Given the description of an element on the screen output the (x, y) to click on. 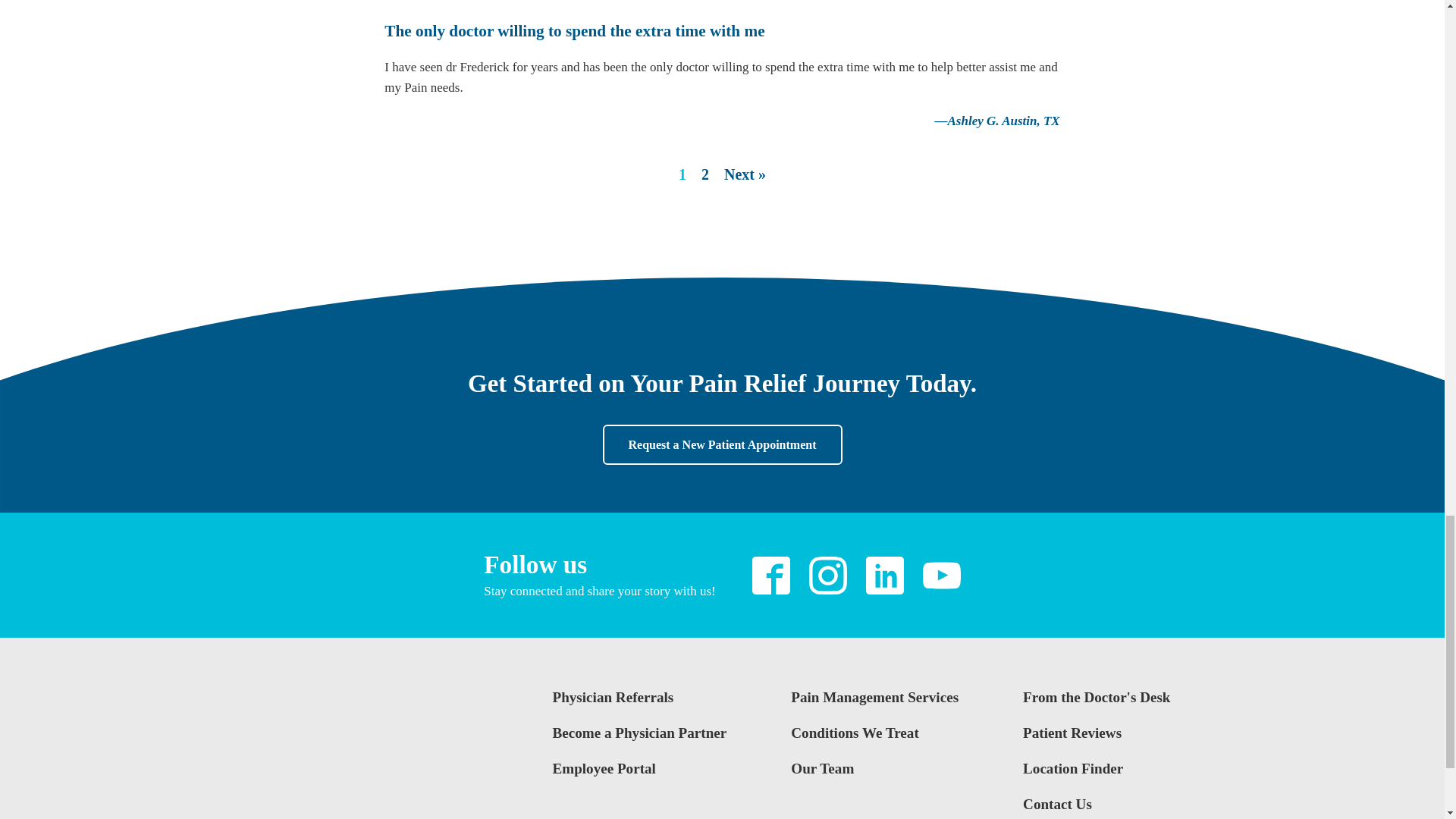
From the Doctor's Desk (1096, 703)
Conditions We Treat (874, 739)
Employee Portal (638, 775)
Patient Reviews (1096, 739)
Our Team (874, 775)
Request a New Patient Appointment (721, 445)
Location Finder (1096, 775)
Physician Referrals (638, 703)
Pain Management Services (874, 703)
Contact Us (1096, 806)
Become a Physician Partner (638, 739)
